Given the description of an element on the screen output the (x, y) to click on. 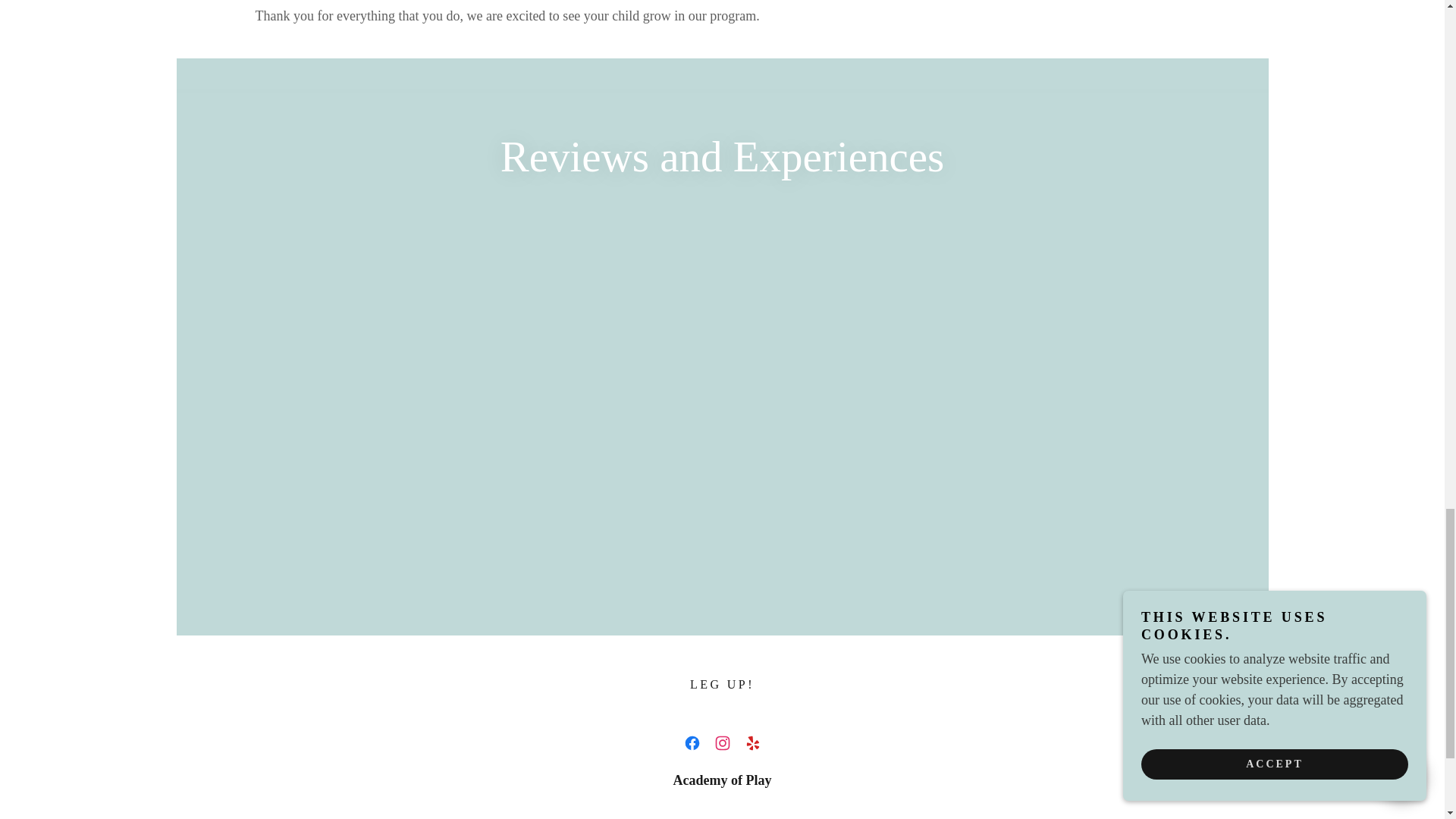
LEG UP! (722, 684)
